Given the description of an element on the screen output the (x, y) to click on. 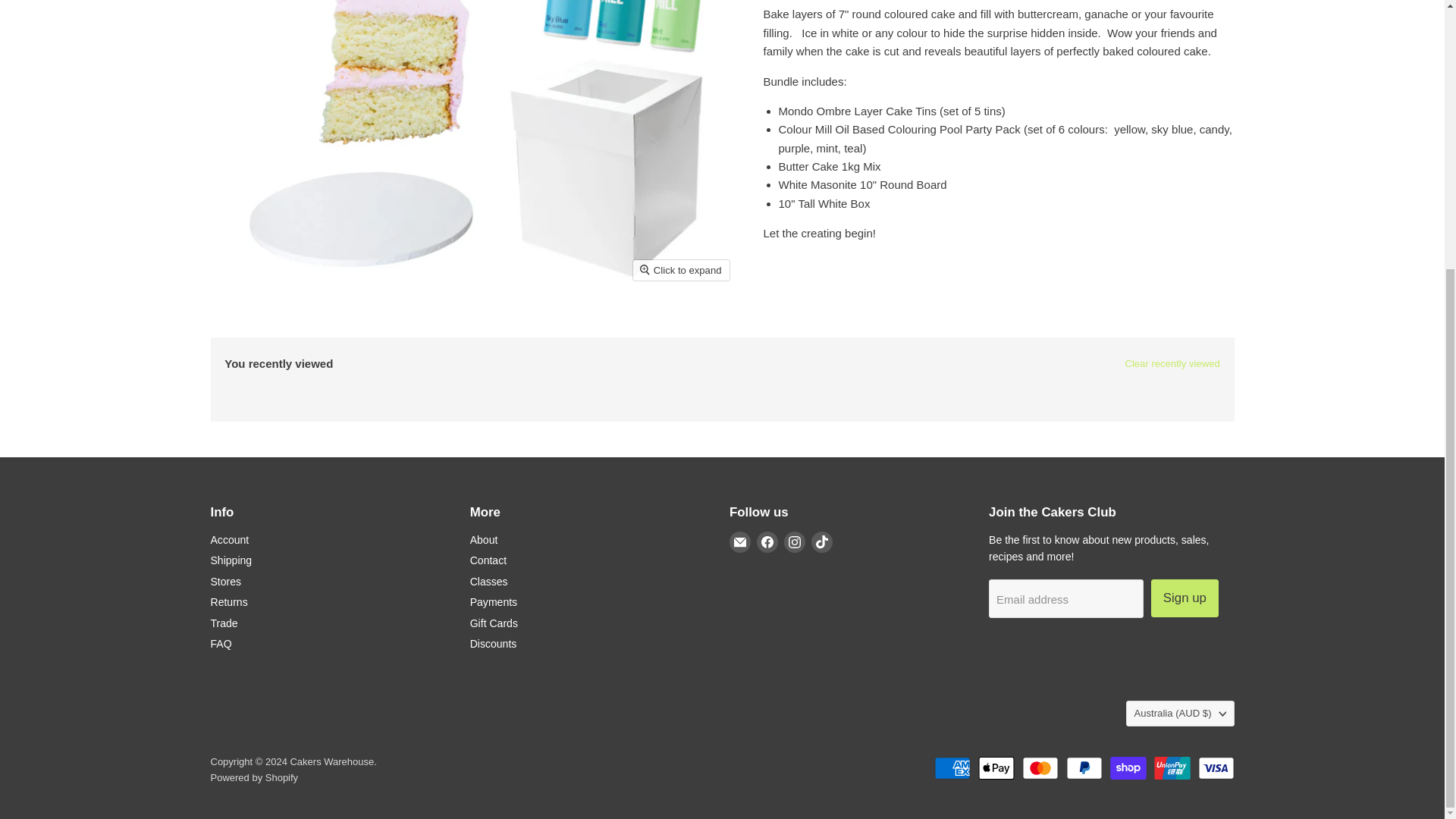
Facebook (767, 541)
Apple Pay (996, 767)
Email (740, 541)
Mastercard (1040, 767)
American Express (952, 767)
Shop Pay (1128, 767)
PayPal (1083, 767)
Instagram (794, 541)
TikTok (821, 541)
